Given the description of an element on the screen output the (x, y) to click on. 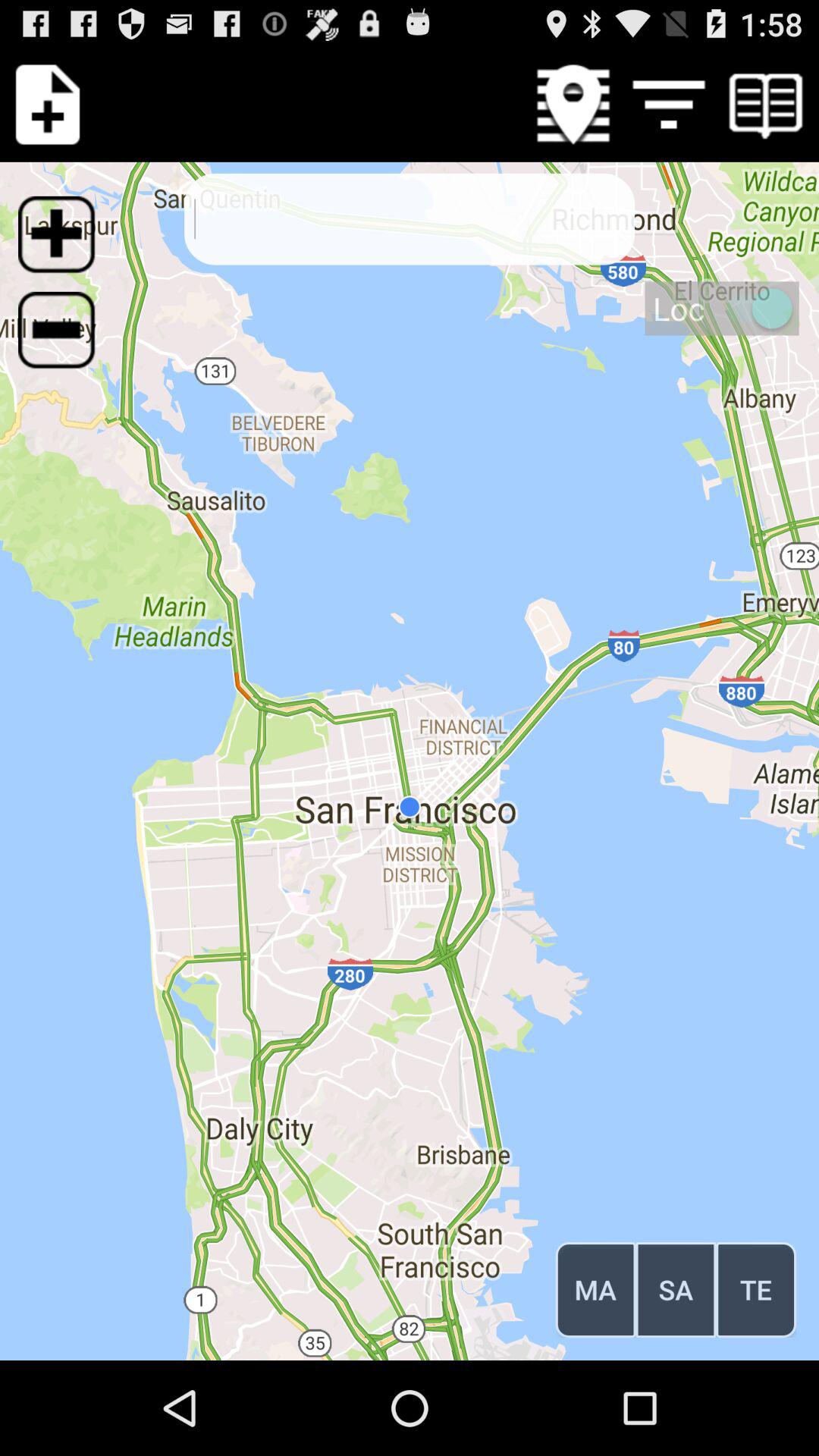
turn on the icon below the  loc icon (675, 1289)
